Given the description of an element on the screen output the (x, y) to click on. 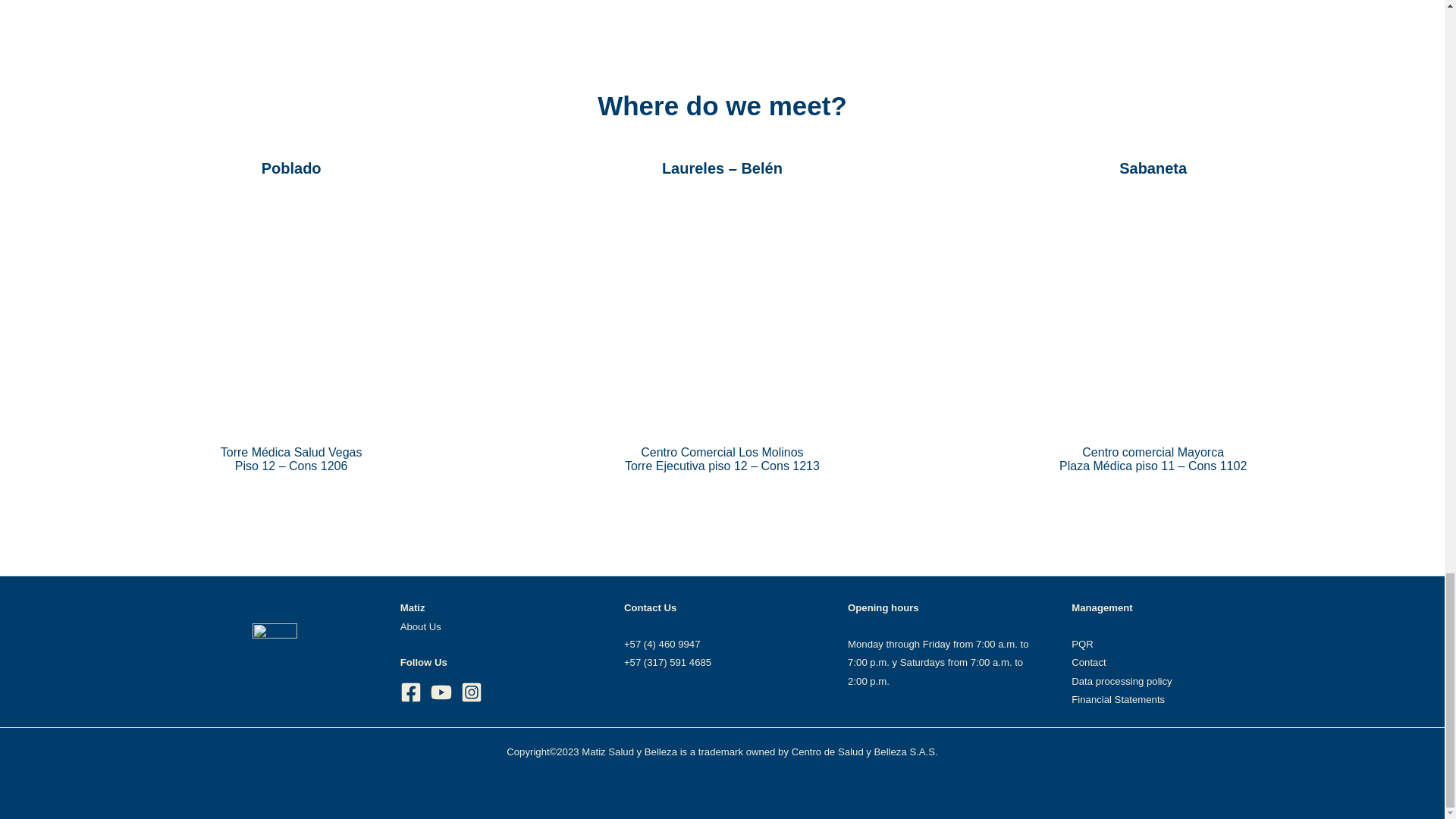
Matiz clinica las vegas (290, 312)
Matiz centro comercial los molinos (721, 312)
centro comercial mayorca (1152, 312)
